Given the description of an element on the screen output the (x, y) to click on. 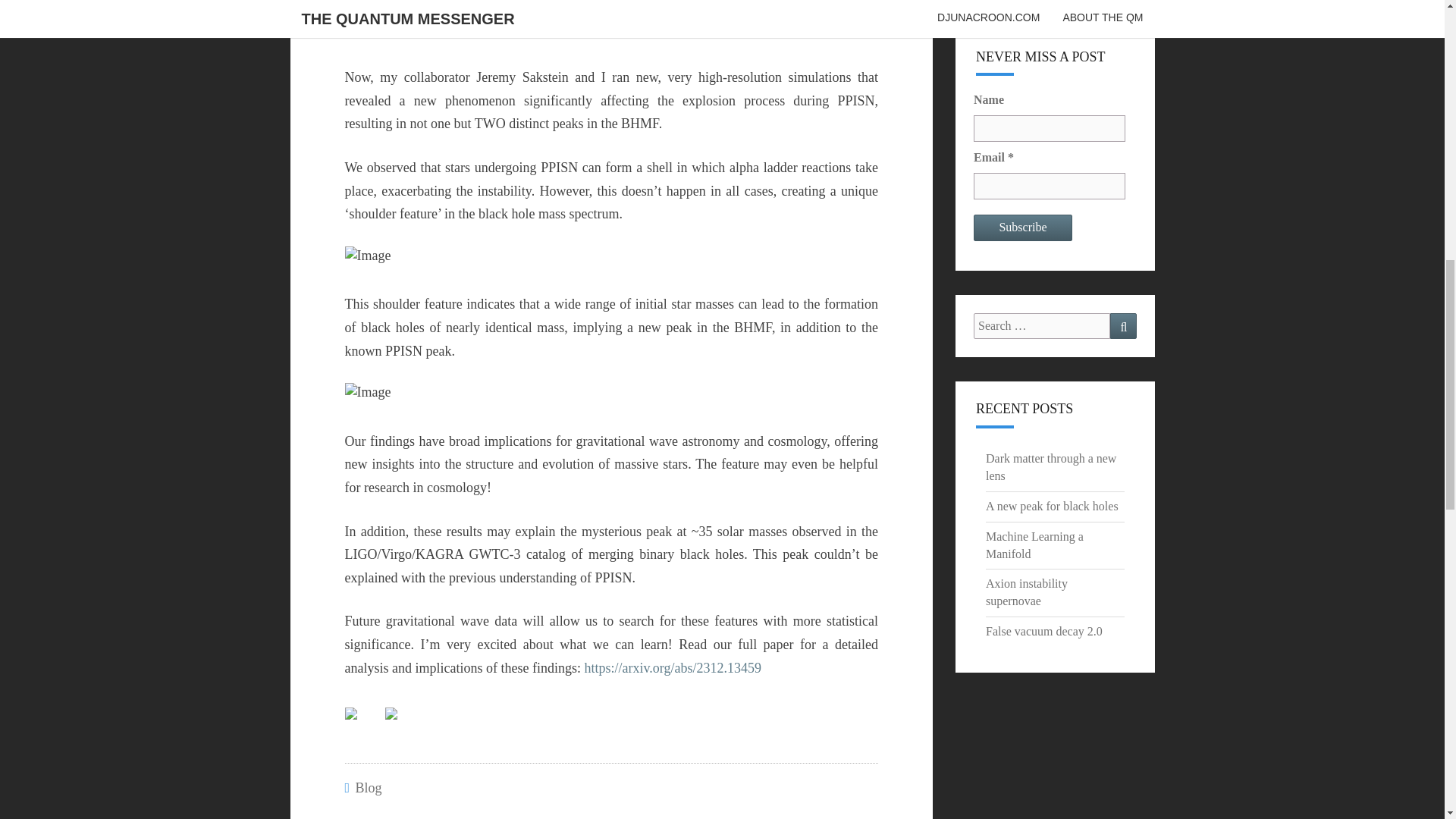
Subscribe (1022, 227)
A new peak for black holes (1051, 505)
Share on Facebook (349, 713)
Subscribe (1022, 227)
Machine Learning a Manifold (1034, 544)
Blog (368, 787)
Share on Facebook (361, 725)
False vacuum decay 2.0 (1043, 631)
Share on Twitter (403, 725)
Share on Twitter (391, 713)
